Given the description of an element on the screen output the (x, y) to click on. 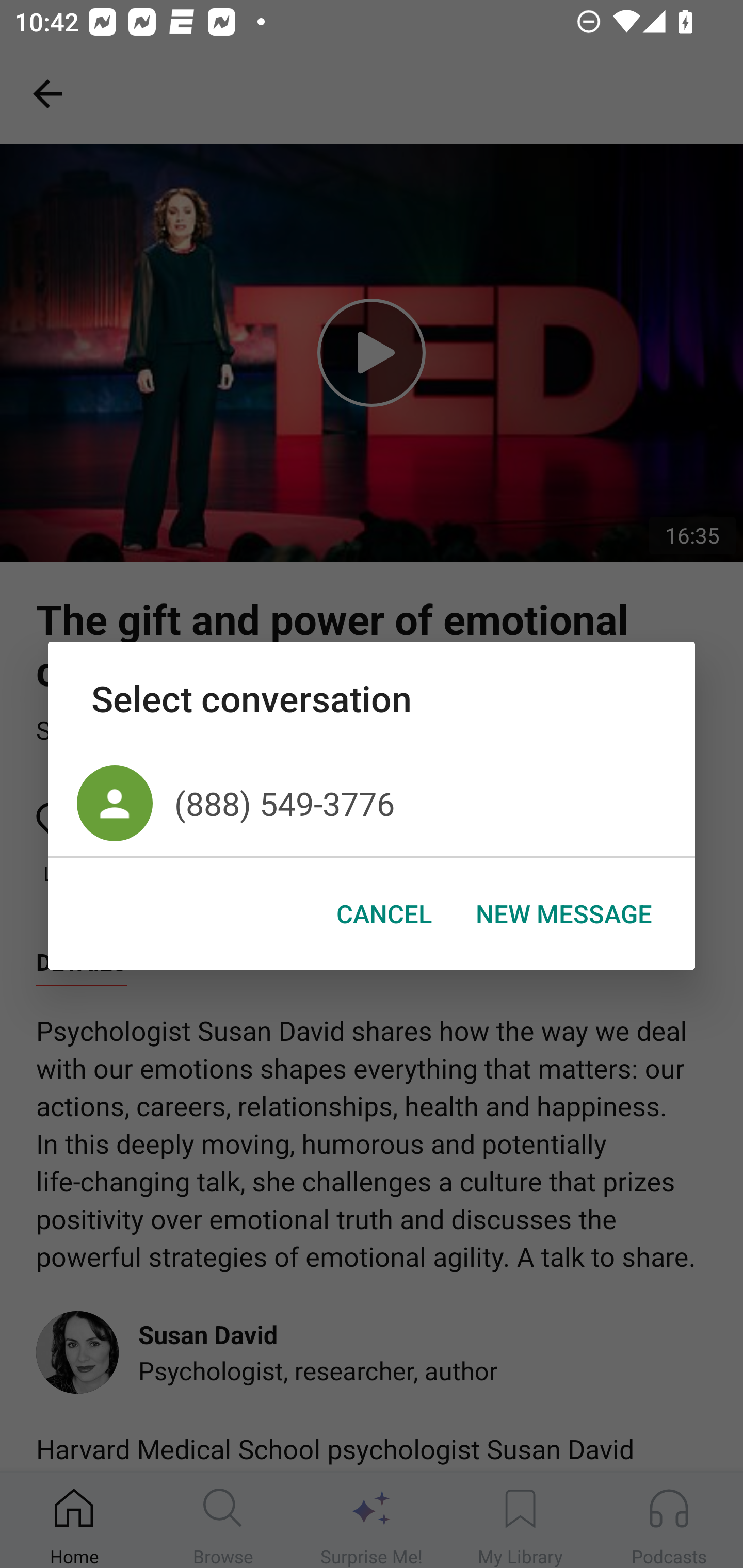
CANCEL (384, 913)
NEW MESSAGE (563, 913)
